Given the description of an element on the screen output the (x, y) to click on. 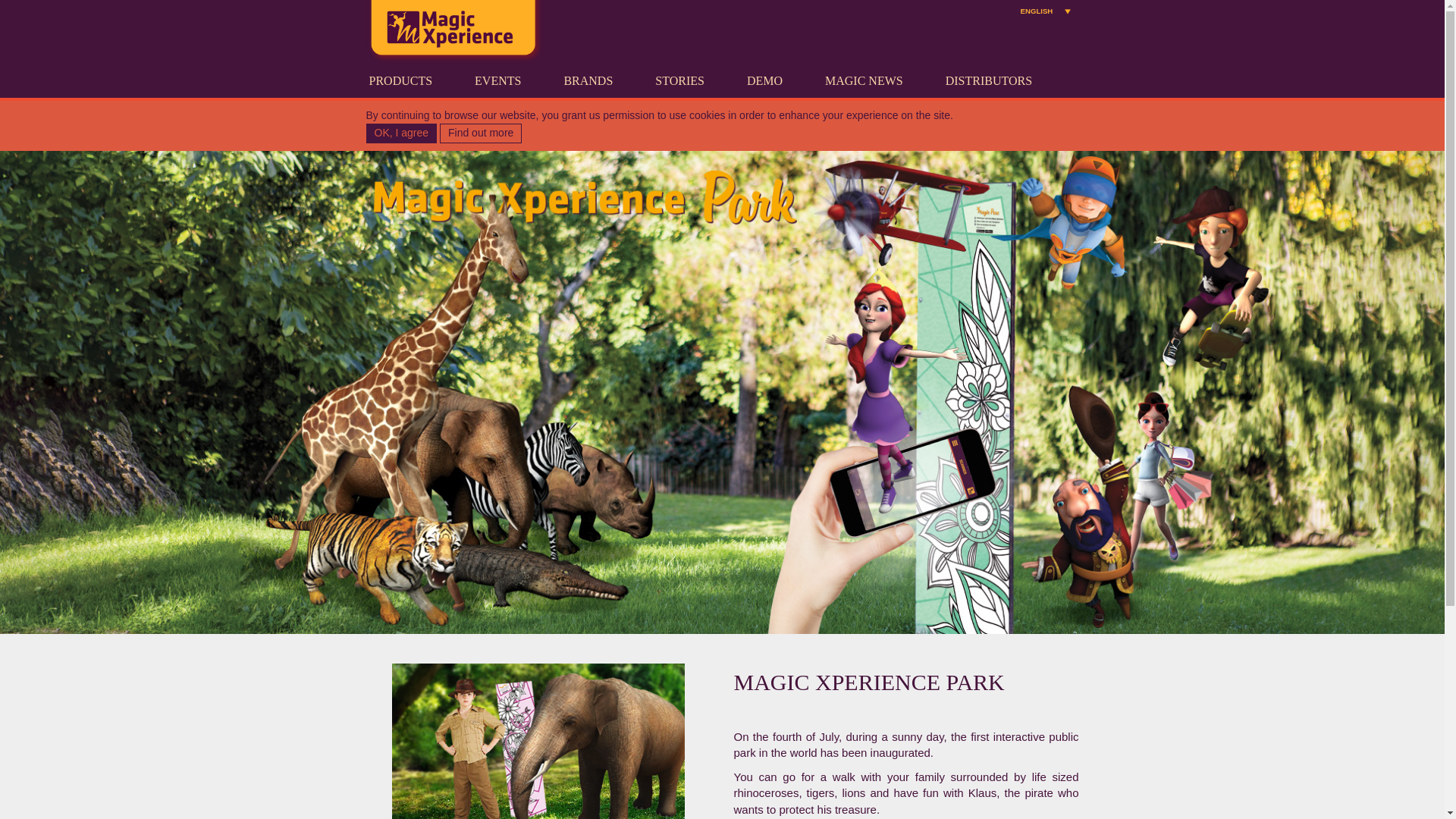
PRODUCTS (400, 81)
Find out more (480, 133)
OK, I agree (400, 133)
DEMO (764, 81)
EVENTS (496, 81)
STORIES (679, 81)
MAGIC NEWS (863, 81)
BRANDS (587, 81)
DISTRIBUTORS (988, 81)
